Given the description of an element on the screen output the (x, y) to click on. 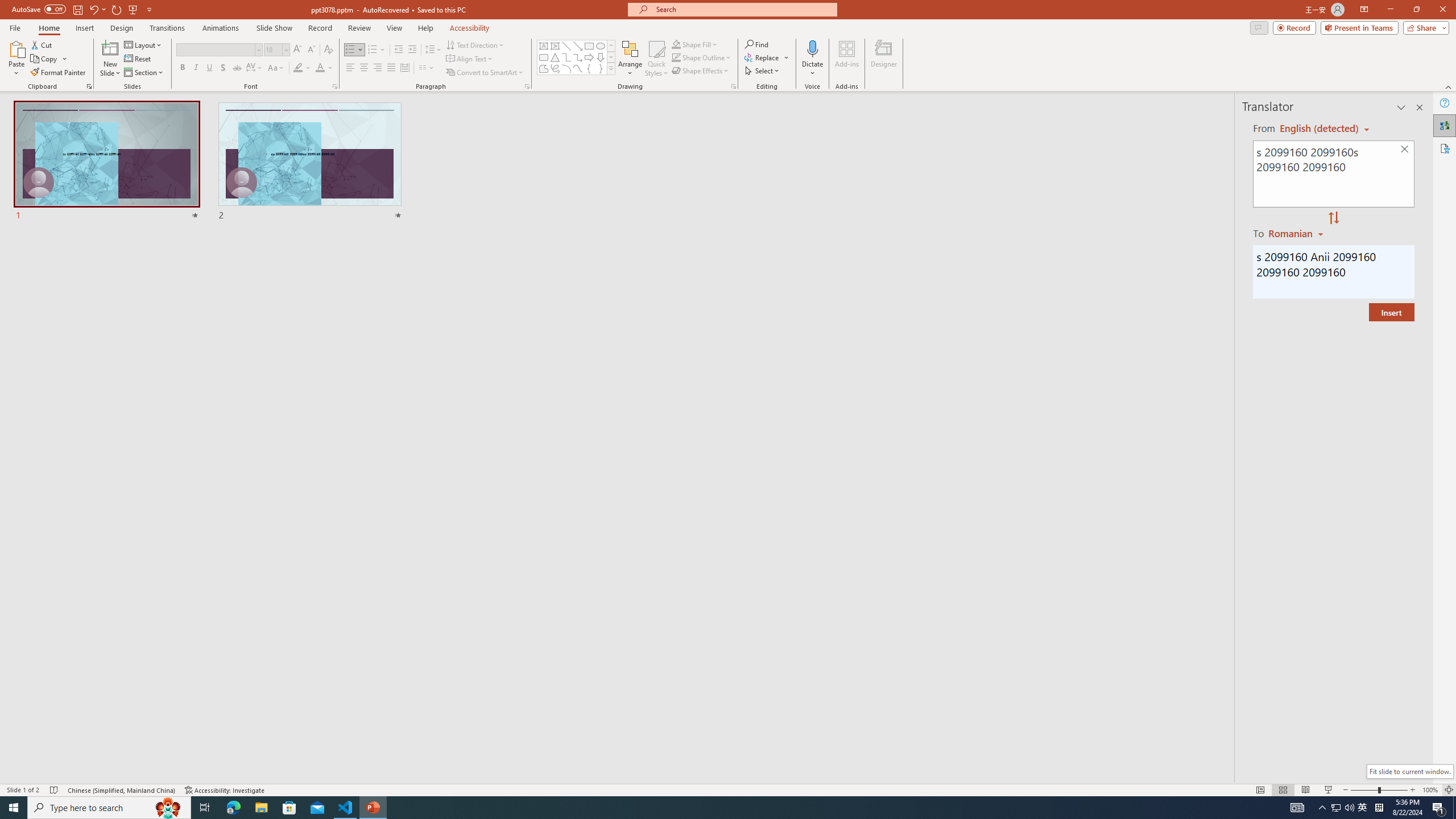
Section (144, 72)
Line Spacing (433, 49)
Reset (138, 58)
Arrow: Down (600, 57)
Increase Indent (412, 49)
Shape Outline Green, Accent 1 (675, 56)
Vertical Text Box (554, 45)
